Given the description of an element on the screen output the (x, y) to click on. 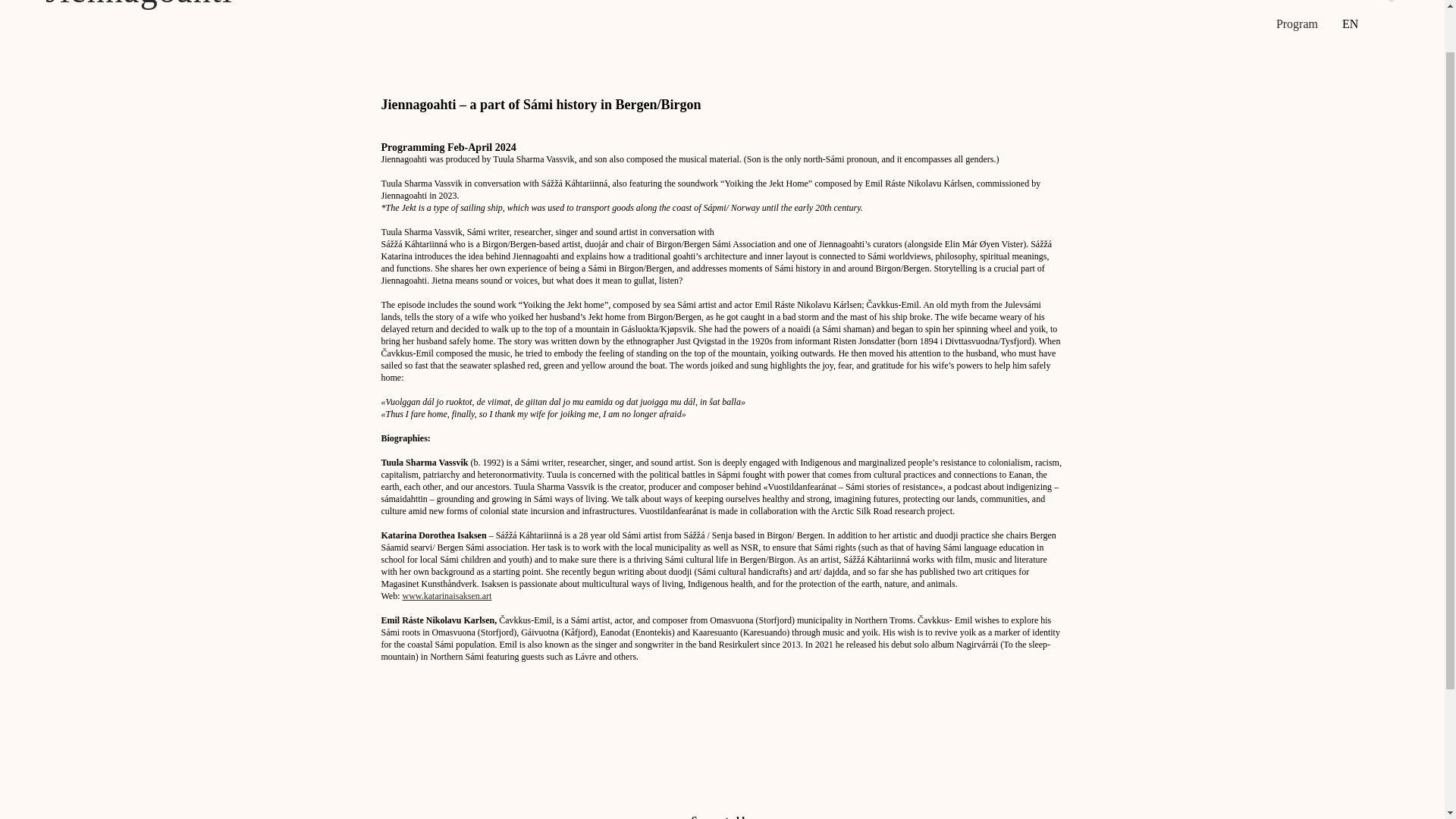
Page 5 (721, 638)
Program (1296, 23)
www.katarinaisaksen.art (447, 595)
English (1360, 15)
Jiennagoahti (138, 4)
EN (1360, 15)
Page 5 (721, 595)
